Given the description of an element on the screen output the (x, y) to click on. 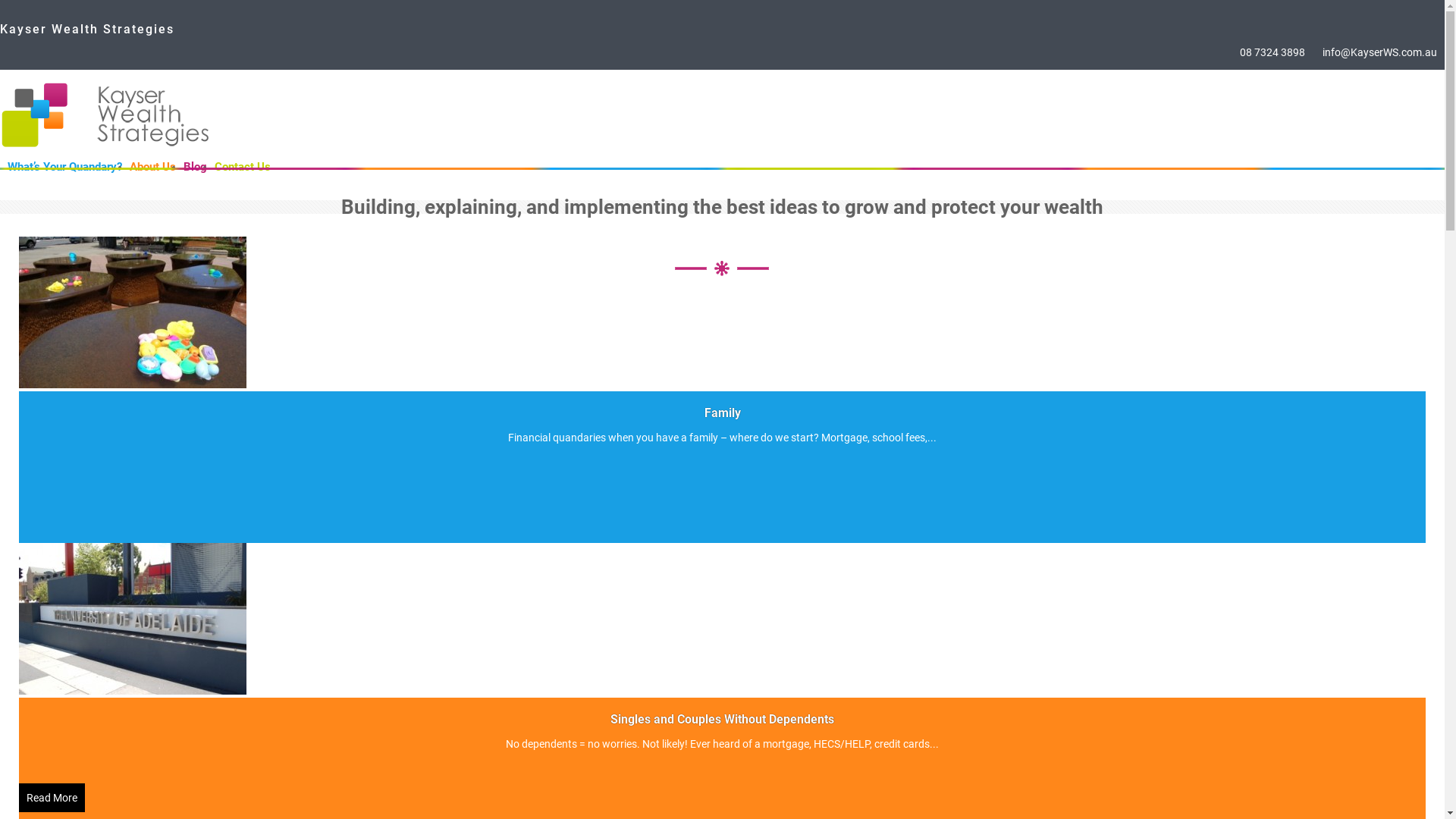
Blog Element type: text (195, 166)
Contact Us Element type: text (242, 166)
About Us Element type: text (152, 166)
Read More Element type: text (51, 797)
info@KayserWS.com.au Element type: text (1379, 52)
08 7324 3898 Element type: text (1272, 52)
